Given the description of an element on the screen output the (x, y) to click on. 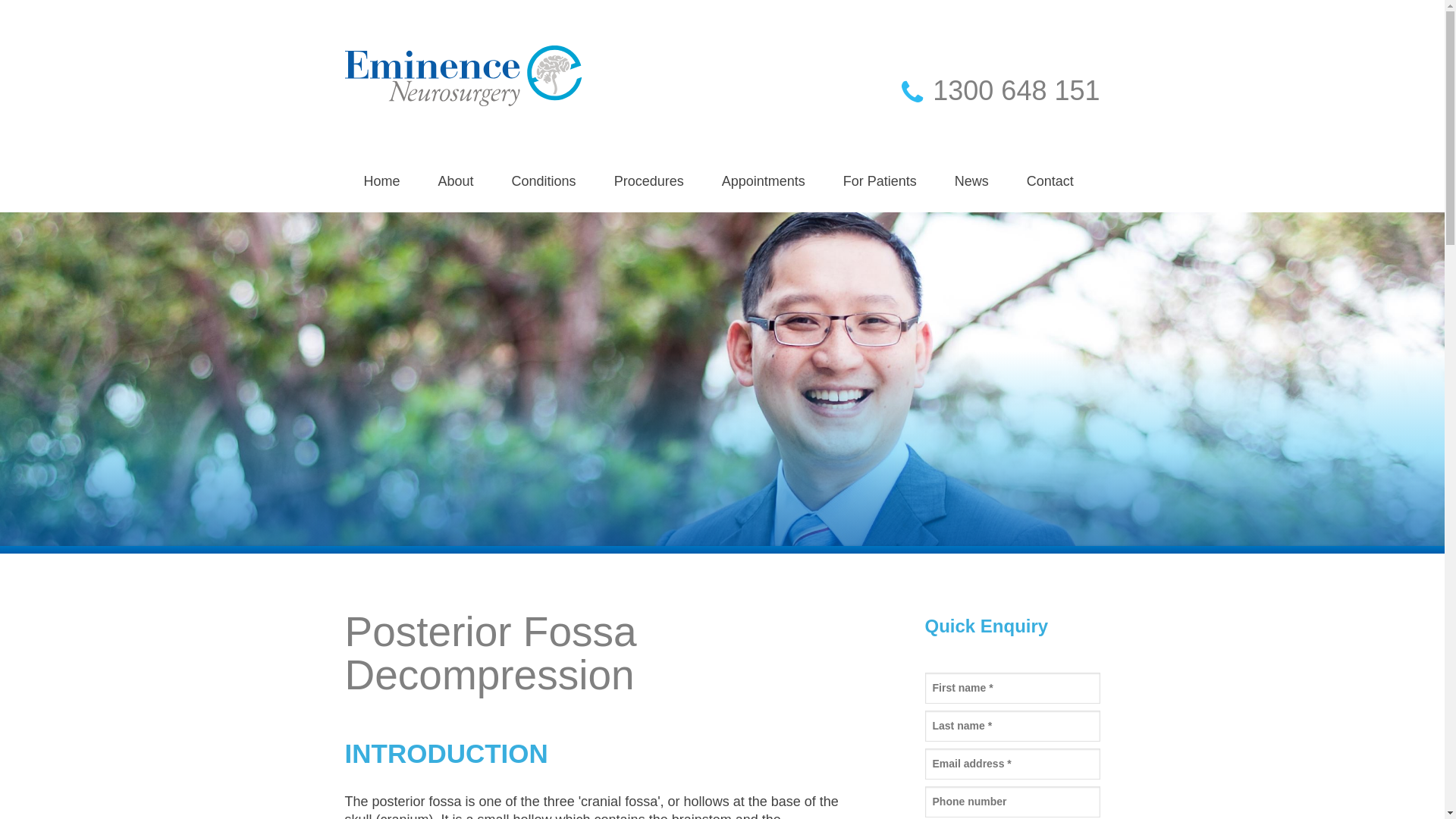
Contact Us Element type: text (997, 234)
About Element type: text (455, 181)
Neurovascular Element type: text (689, 322)
Resources Element type: text (918, 234)
Neuralgia and Peripheral Nerve Element type: text (586, 366)
Spinal Element type: text (586, 278)
Your Visit Element type: text (796, 234)
Appointments Element type: text (763, 181)
News Element type: text (971, 181)
1300 648 151 Element type: text (979, 94)
New Patient Registration Element type: text (796, 410)
Spinal Element type: text (689, 278)
Our Practice Element type: text (513, 234)
Neurovascular Element type: text (586, 322)
Locations Element type: text (997, 278)
For Patients Element type: text (879, 181)
Cranial Element type: text (689, 234)
Contact Element type: text (1049, 181)
Skip to main content Element type: text (67, 0)
Cranial Element type: text (586, 234)
Appointment Request Element type: text (796, 366)
Our Team Element type: text (513, 278)
Home Element type: text (381, 181)
Frequently Asked Questions Element type: text (796, 322)
Procedures Element type: text (648, 181)
Conditions Element type: text (543, 181)
Fees and Payment Element type: text (796, 278)
